Given the description of an element on the screen output the (x, y) to click on. 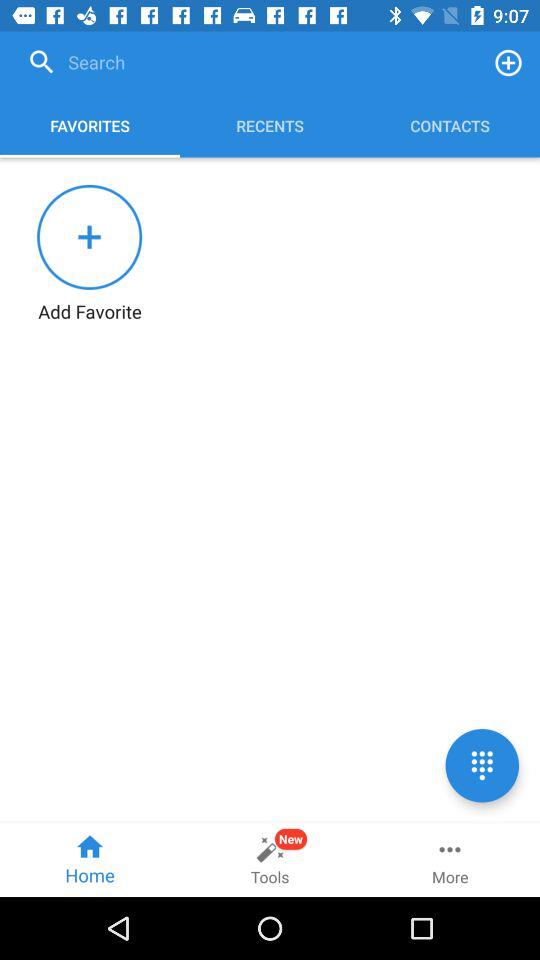
opens up a list of options to choose from (482, 765)
